Given the description of an element on the screen output the (x, y) to click on. 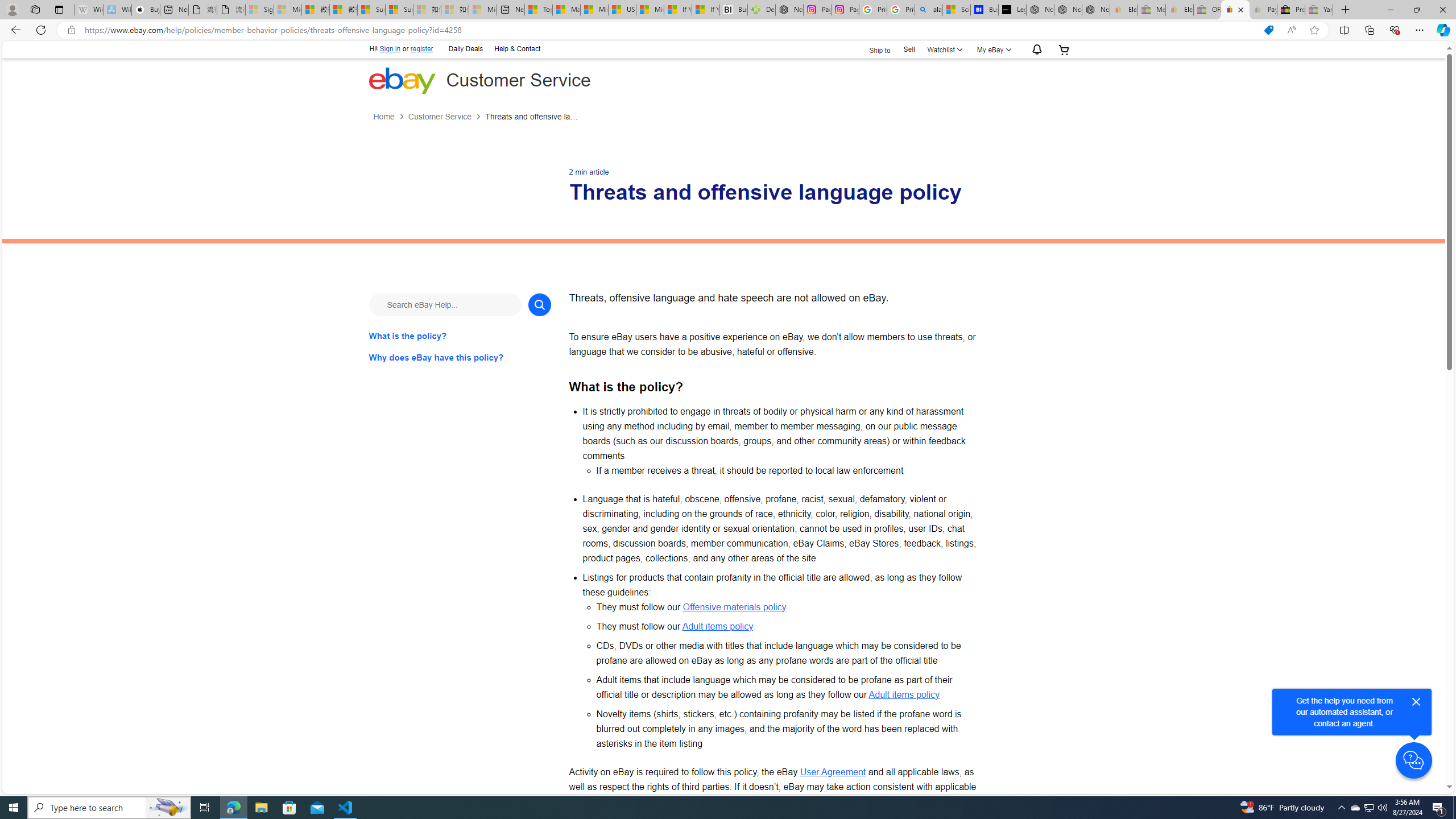
Close tab (1240, 9)
Customer Service (446, 117)
Search (539, 304)
Refresh (40, 29)
eBay Home (401, 80)
This site has coupons! Shopping in Microsoft Edge (1268, 29)
View site information (70, 29)
Sign in (390, 49)
